Given the description of an element on the screen output the (x, y) to click on. 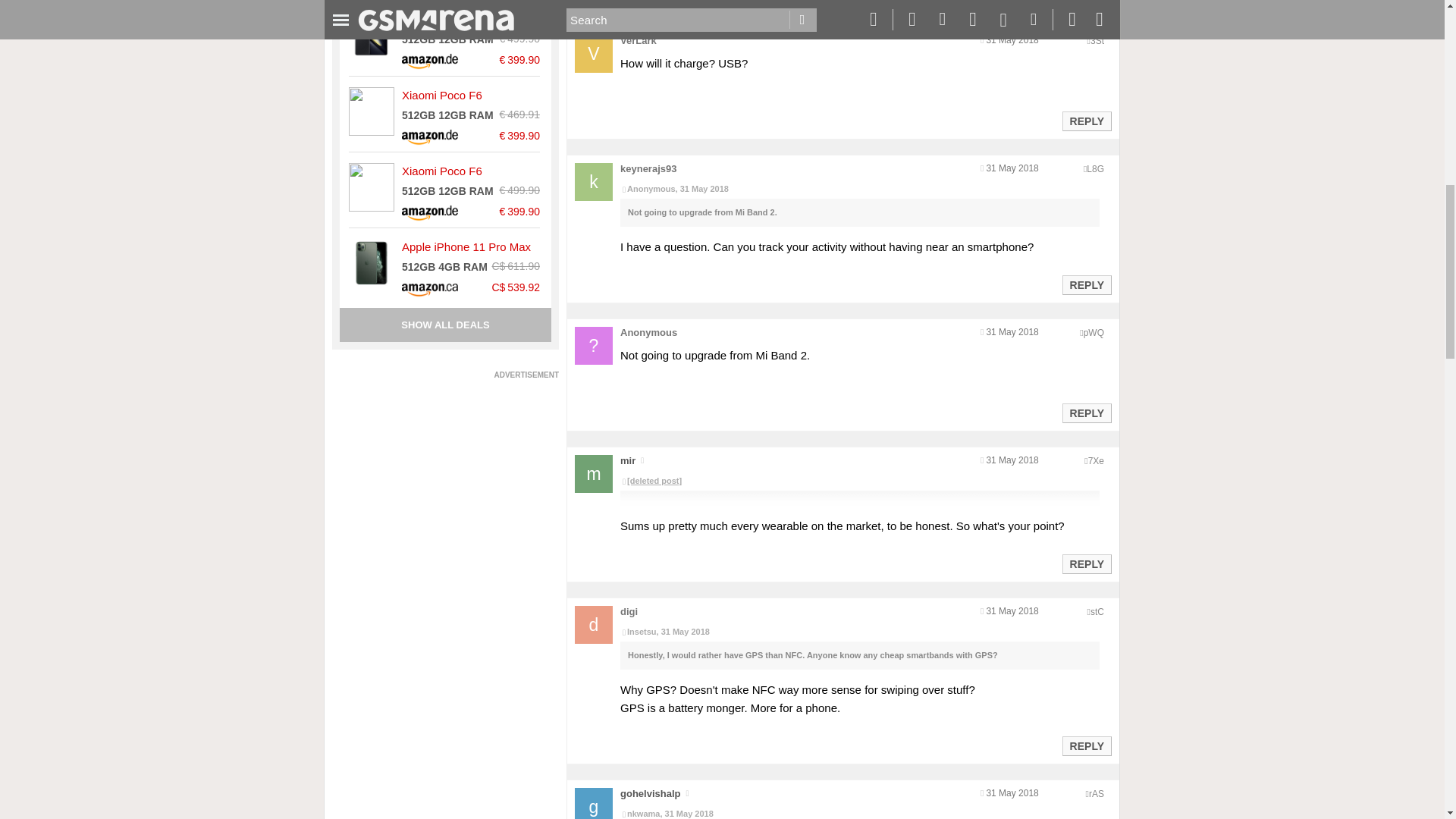
Encoded anonymized location (1096, 611)
Encoded anonymized location (1093, 332)
Reply to this post (1086, 121)
Encoded anonymized location (1095, 460)
Reply to this post (1086, 413)
Encoded anonymized location (1094, 168)
Reply to this post (1086, 285)
Reply to this post (1086, 563)
Encoded anonymized location (1096, 40)
